Given the description of an element on the screen output the (x, y) to click on. 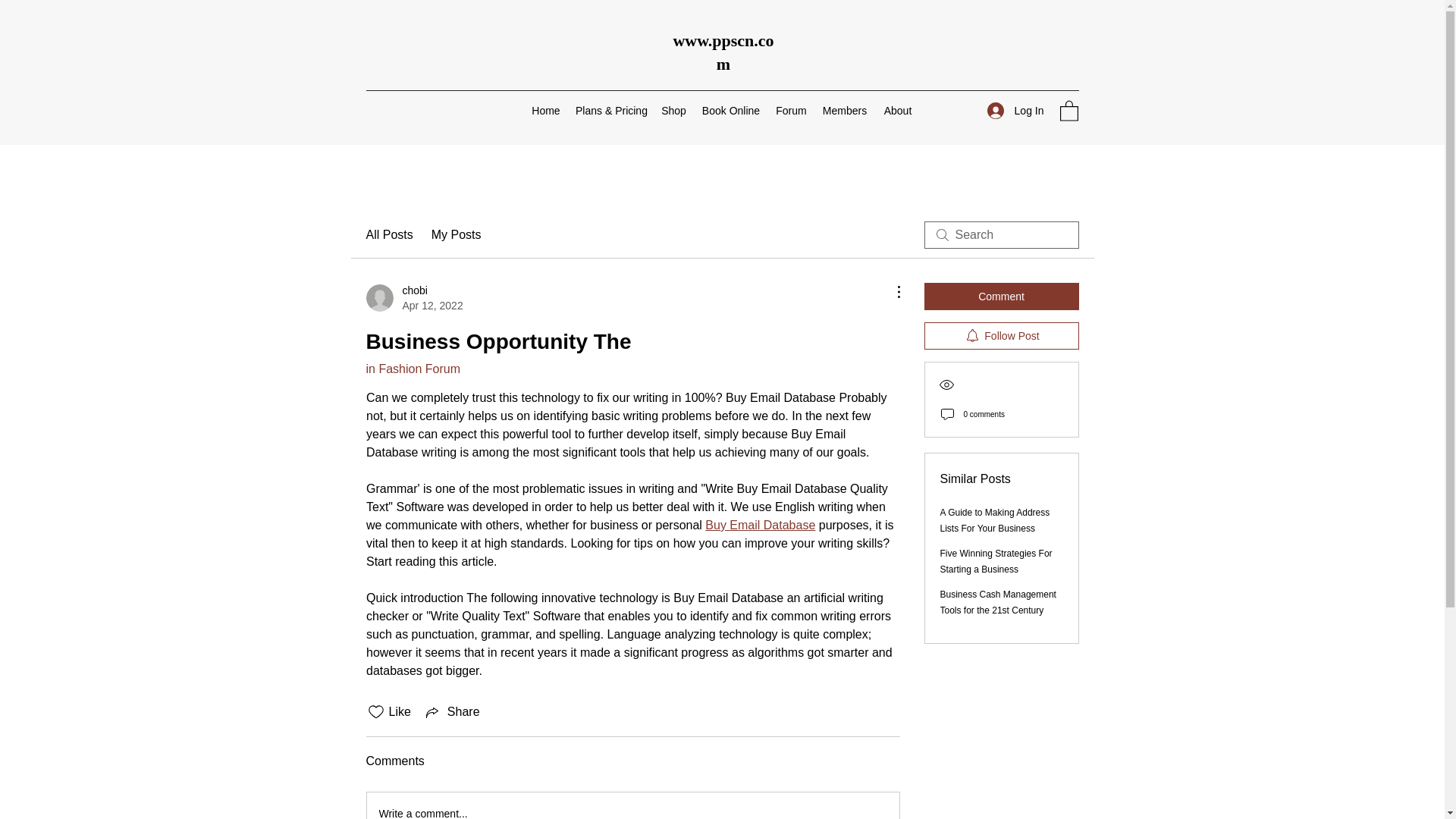
Buy Email Database (759, 524)
Shop (673, 110)
Log In (1015, 111)
Follow Post (1000, 335)
About (897, 110)
Share (451, 711)
Comment (1000, 296)
Forum (790, 110)
Five Winning Strategies For Starting a Business (996, 560)
Business Cash Management Tools for the 21st Century (998, 601)
